Given the description of an element on the screen output the (x, y) to click on. 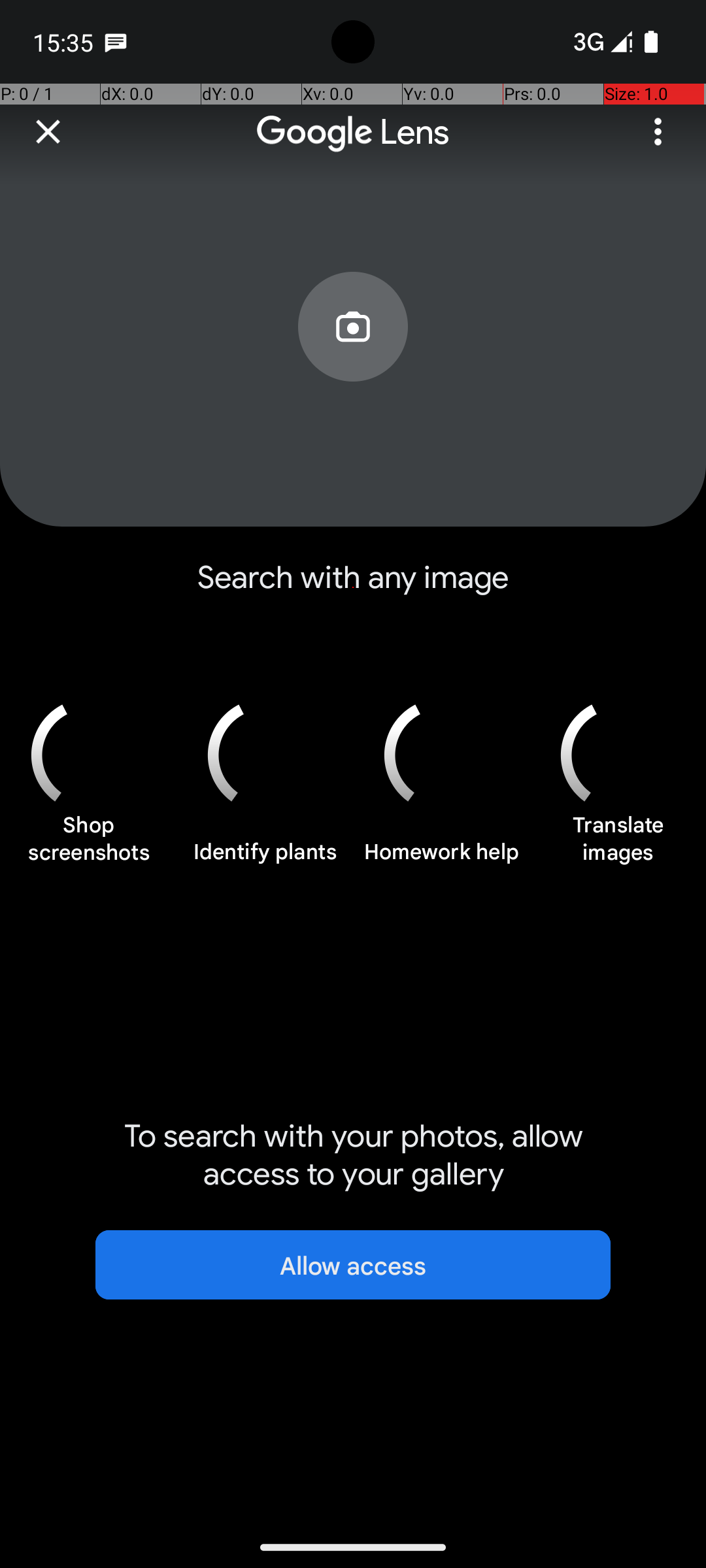
Search with your camera Element type: android.widget.FrameLayout (353, 356)
Search with any image Element type: android.widget.TextView (353, 587)
Shop screenshots Element type: android.widget.TextView (88, 845)
Identify plants Element type: android.widget.TextView (264, 858)
Homework help Element type: android.widget.TextView (441, 858)
Translate images Element type: android.widget.TextView (617, 845)
To search with your photos, allow access to your gallery Element type: android.widget.TextView (352, 1154)
Allow access Element type: android.widget.Button (352, 1264)
